Given the description of an element on the screen output the (x, y) to click on. 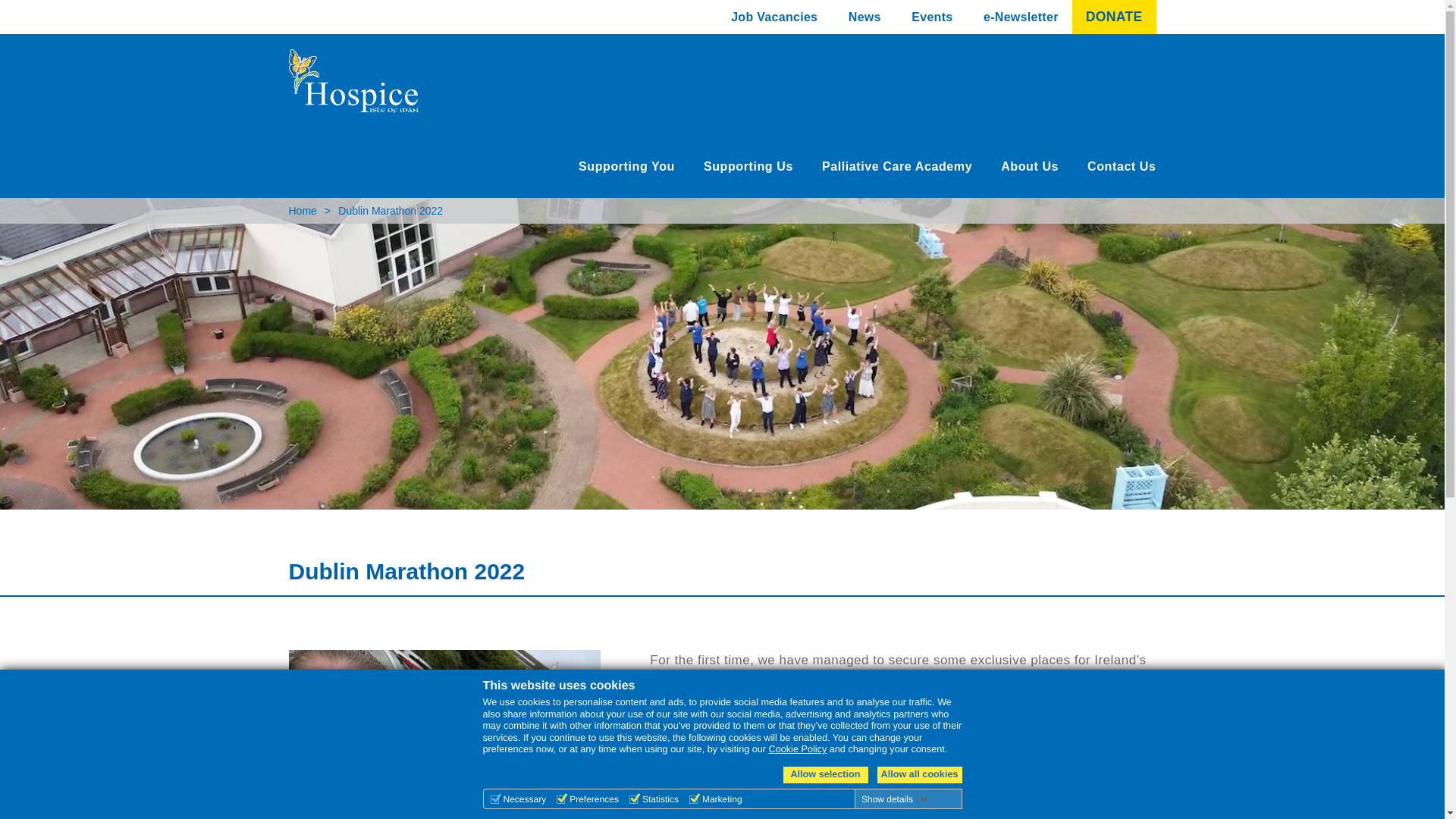
Allow all cookies (918, 774)
Cookie Policy (797, 748)
Allow selection (825, 774)
Show details (895, 799)
